Given the description of an element on the screen output the (x, y) to click on. 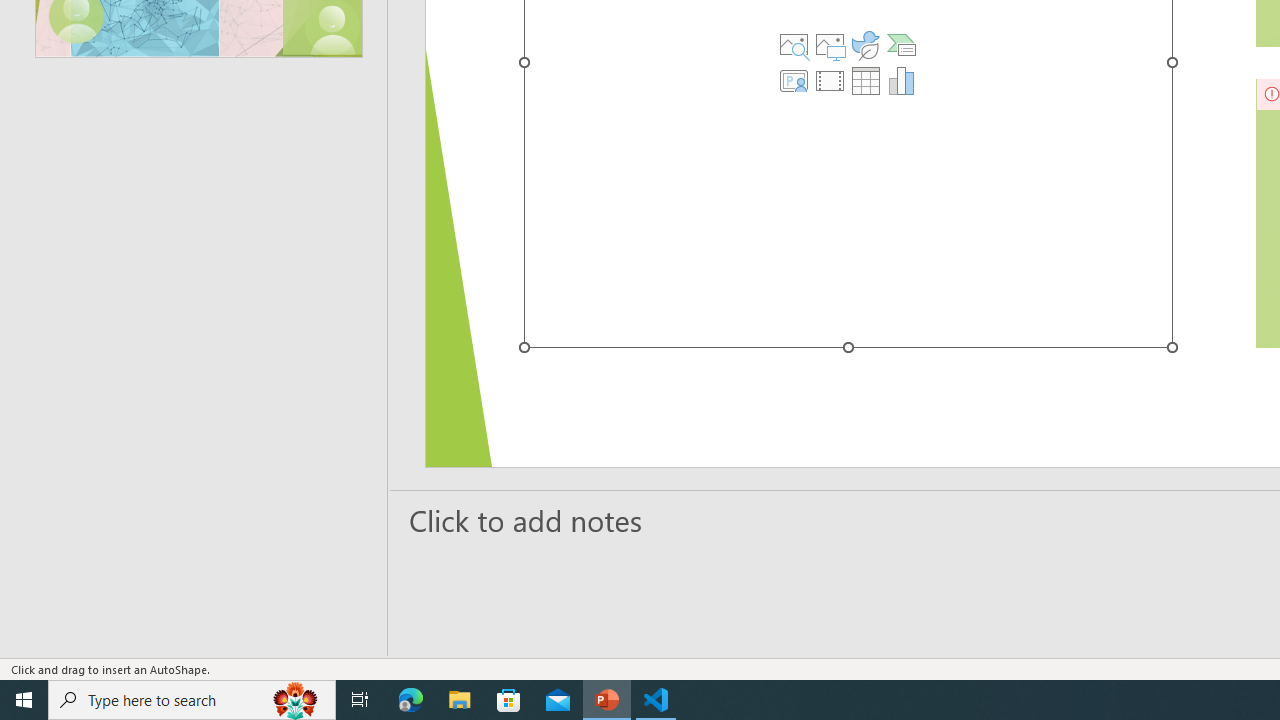
Insert Table (865, 80)
Insert an Icon (865, 44)
Stock Images (794, 44)
Insert a SmartArt Graphic (901, 44)
Insert Chart (901, 80)
Insert Video (830, 80)
Insert Cameo (794, 80)
